Given the description of an element on the screen output the (x, y) to click on. 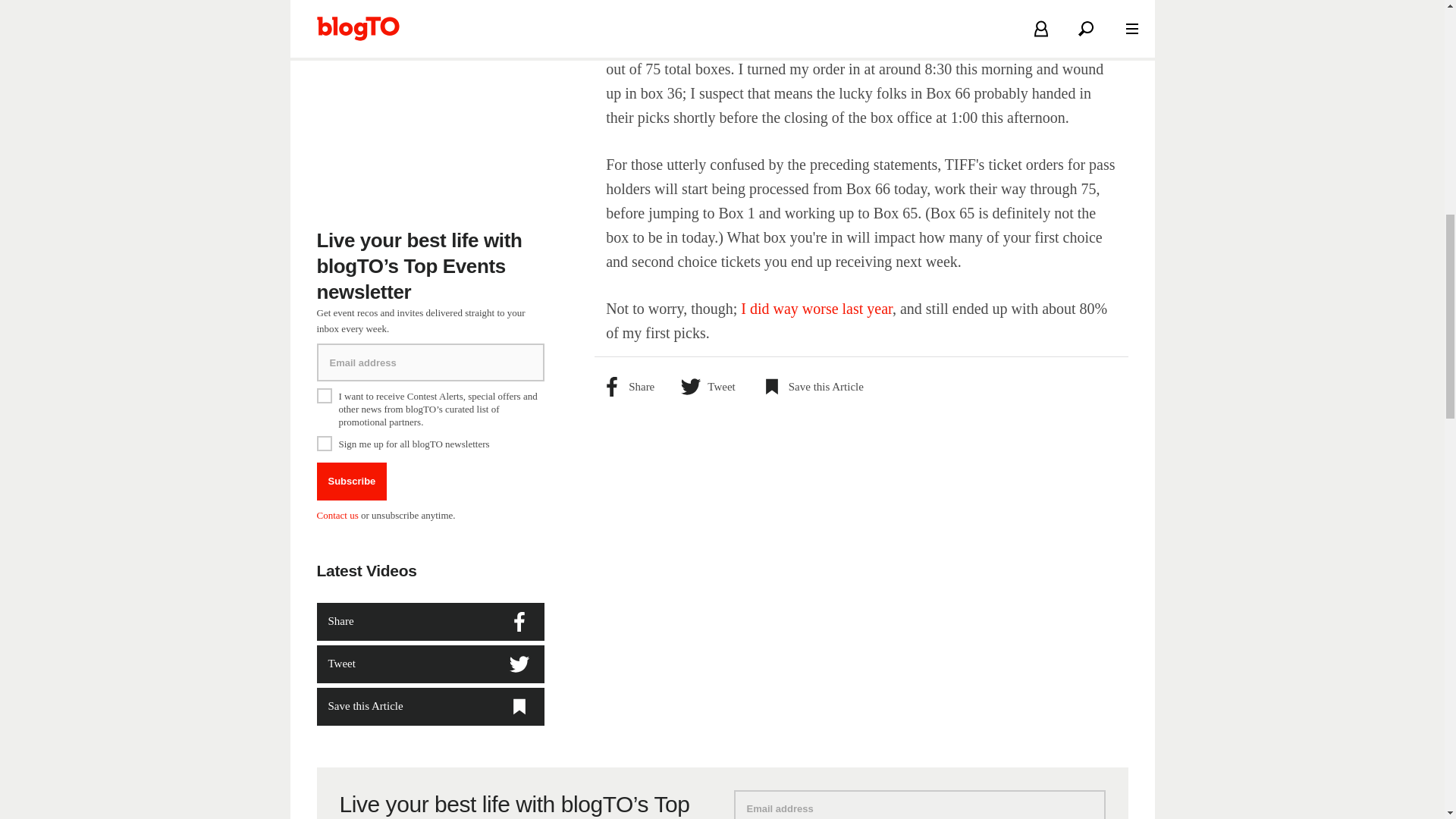
Subscribe (352, 481)
